Given the description of an element on the screen output the (x, y) to click on. 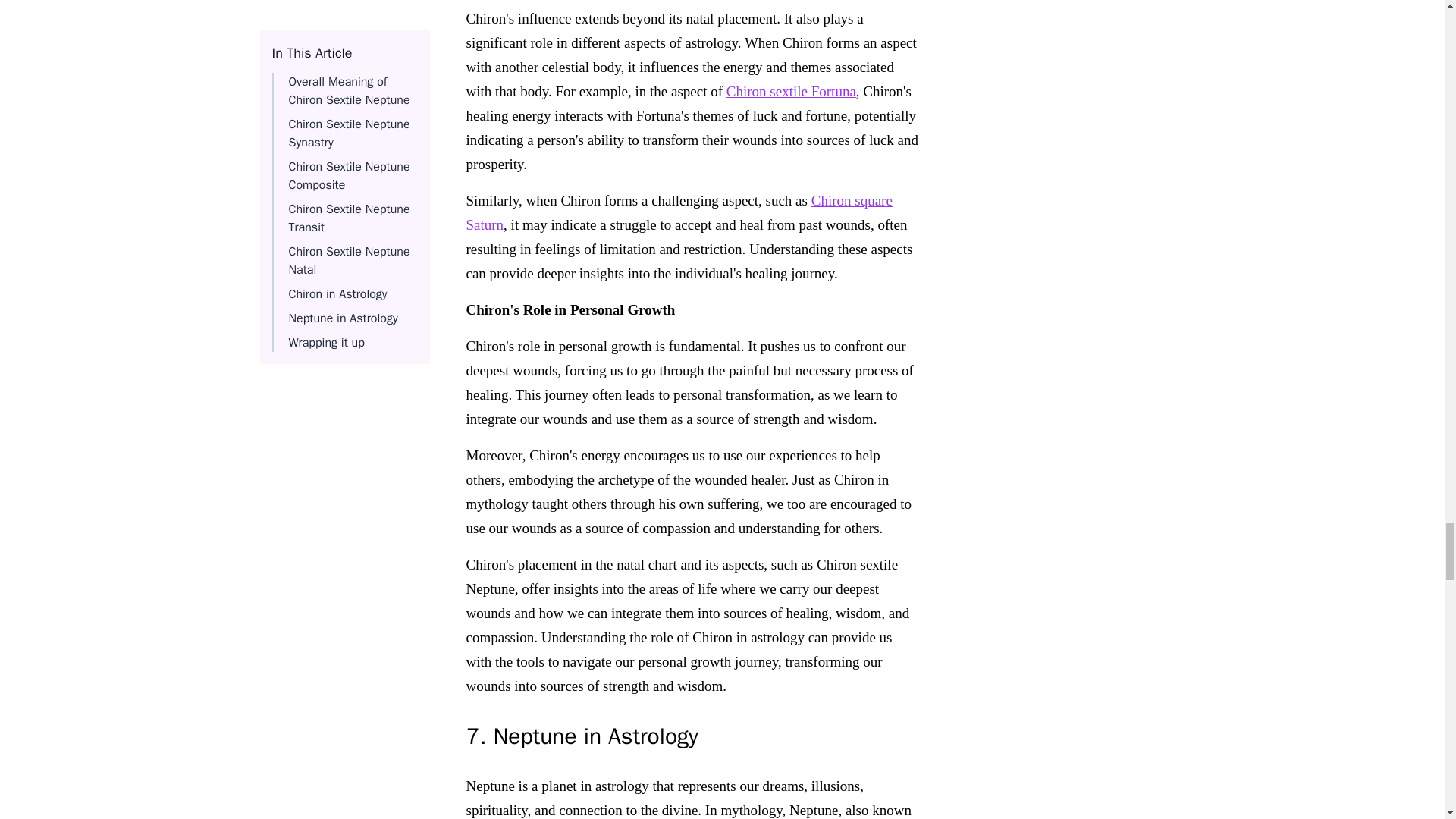
Chiron sextile Fortuna (791, 91)
Chiron square Saturn (678, 212)
